Given the description of an element on the screen output the (x, y) to click on. 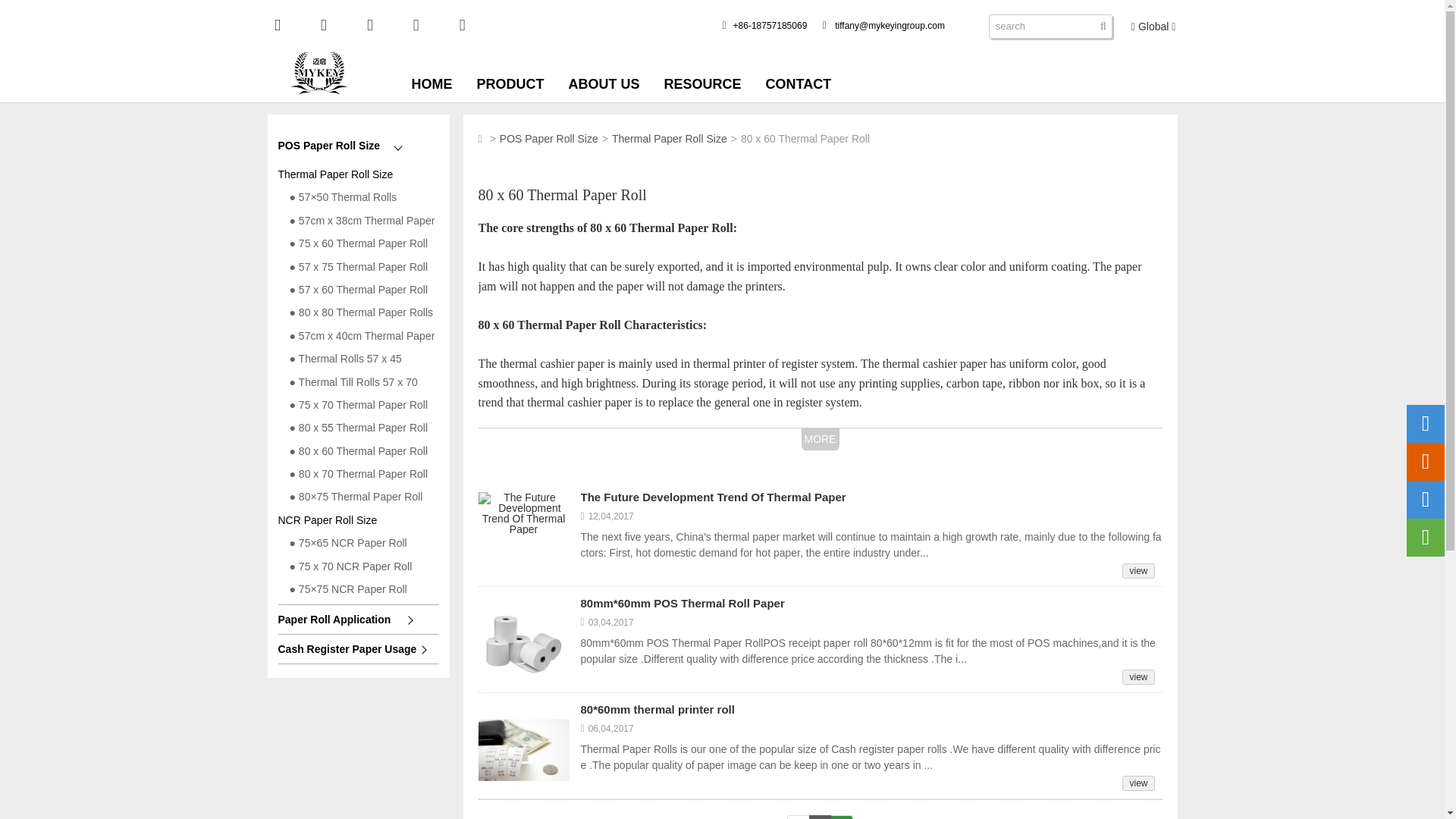
PRODUCT (510, 84)
HOME (432, 84)
Global (1153, 26)
